Given the description of an element on the screen output the (x, y) to click on. 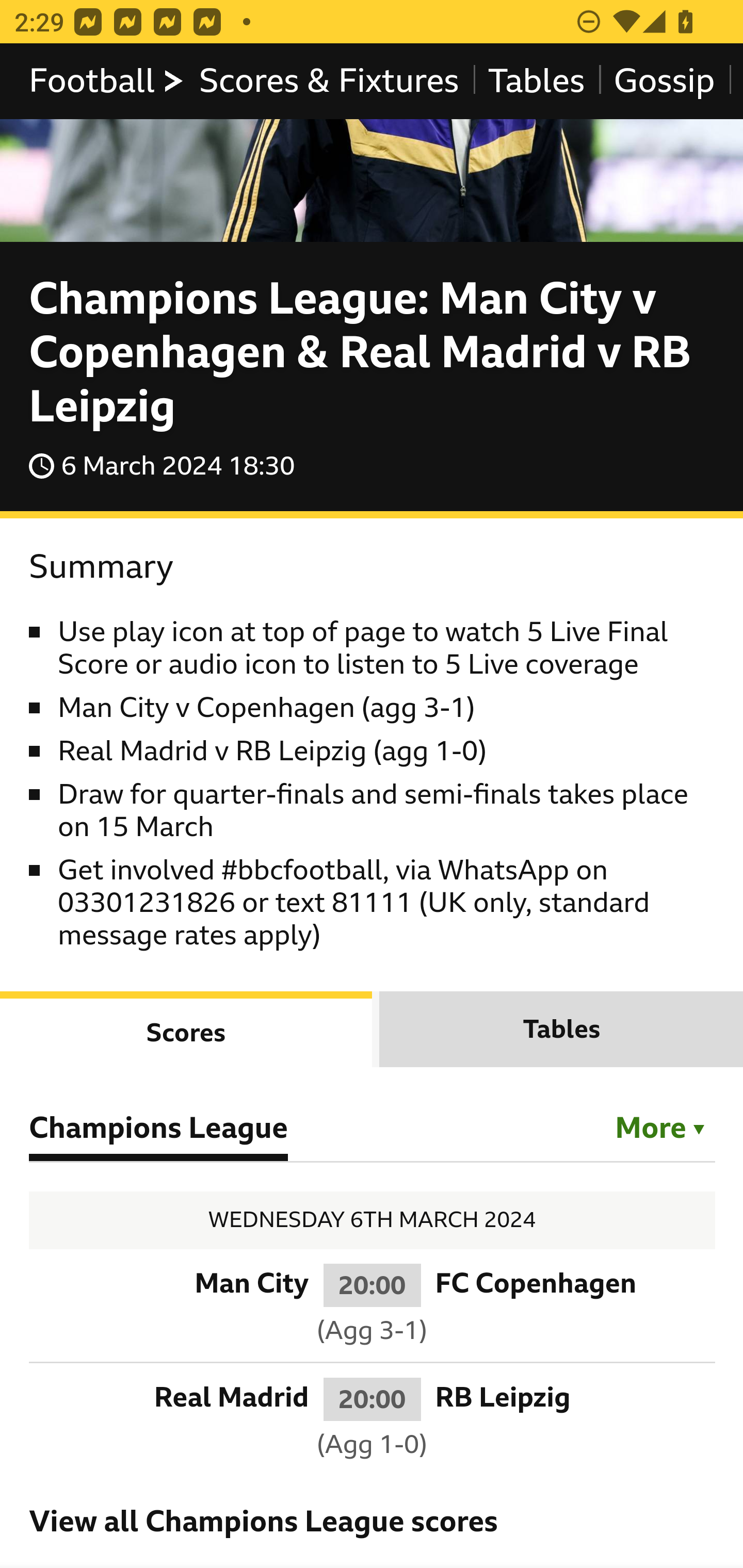
Scores (186, 1029)
Tables (560, 1029)
